Given the description of an element on the screen output the (x, y) to click on. 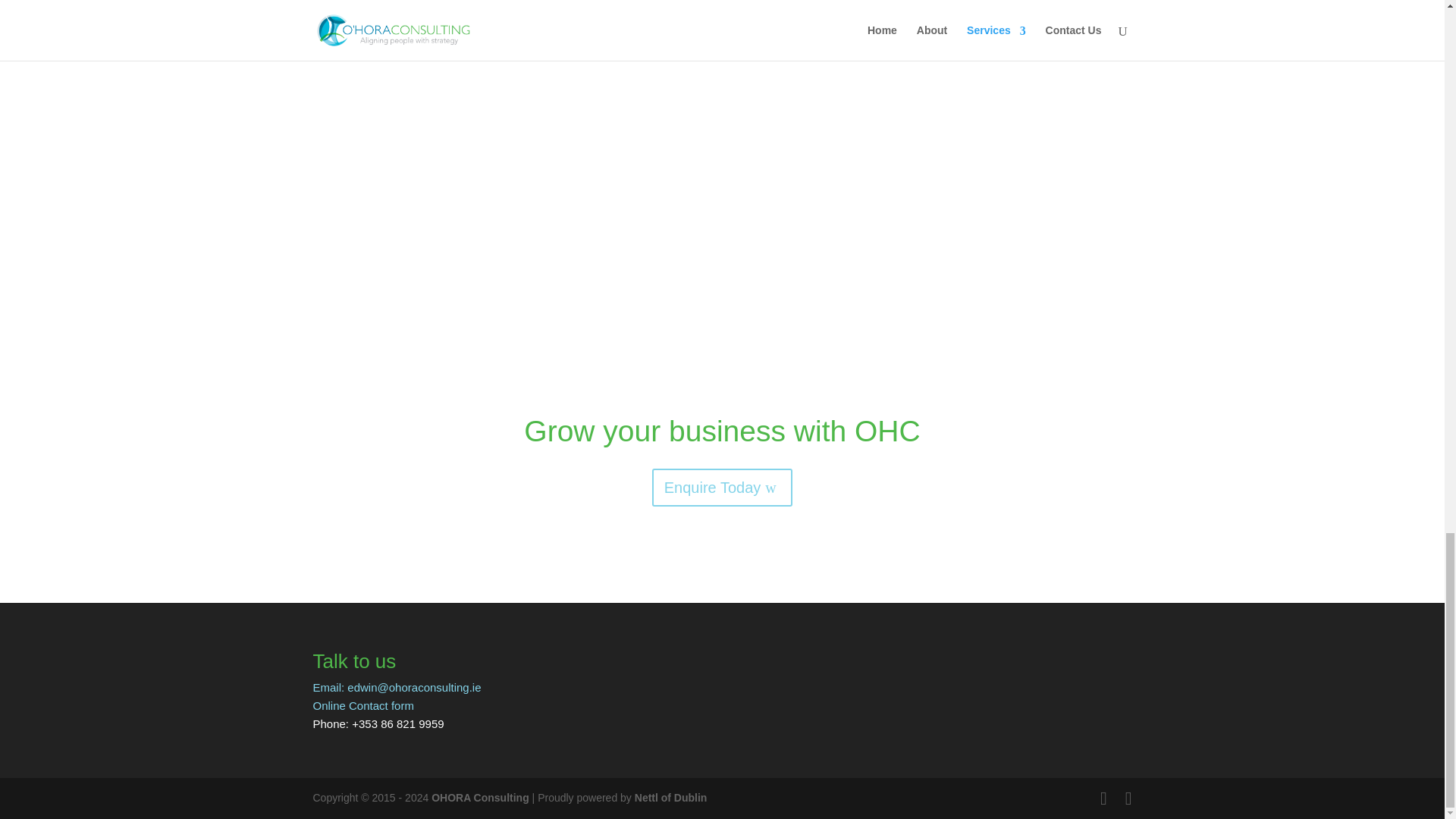
OHORA Consulting (479, 797)
Nettl of Dublin (670, 797)
Online Contact form (363, 705)
Enquire Today (722, 487)
